Given the description of an element on the screen output the (x, y) to click on. 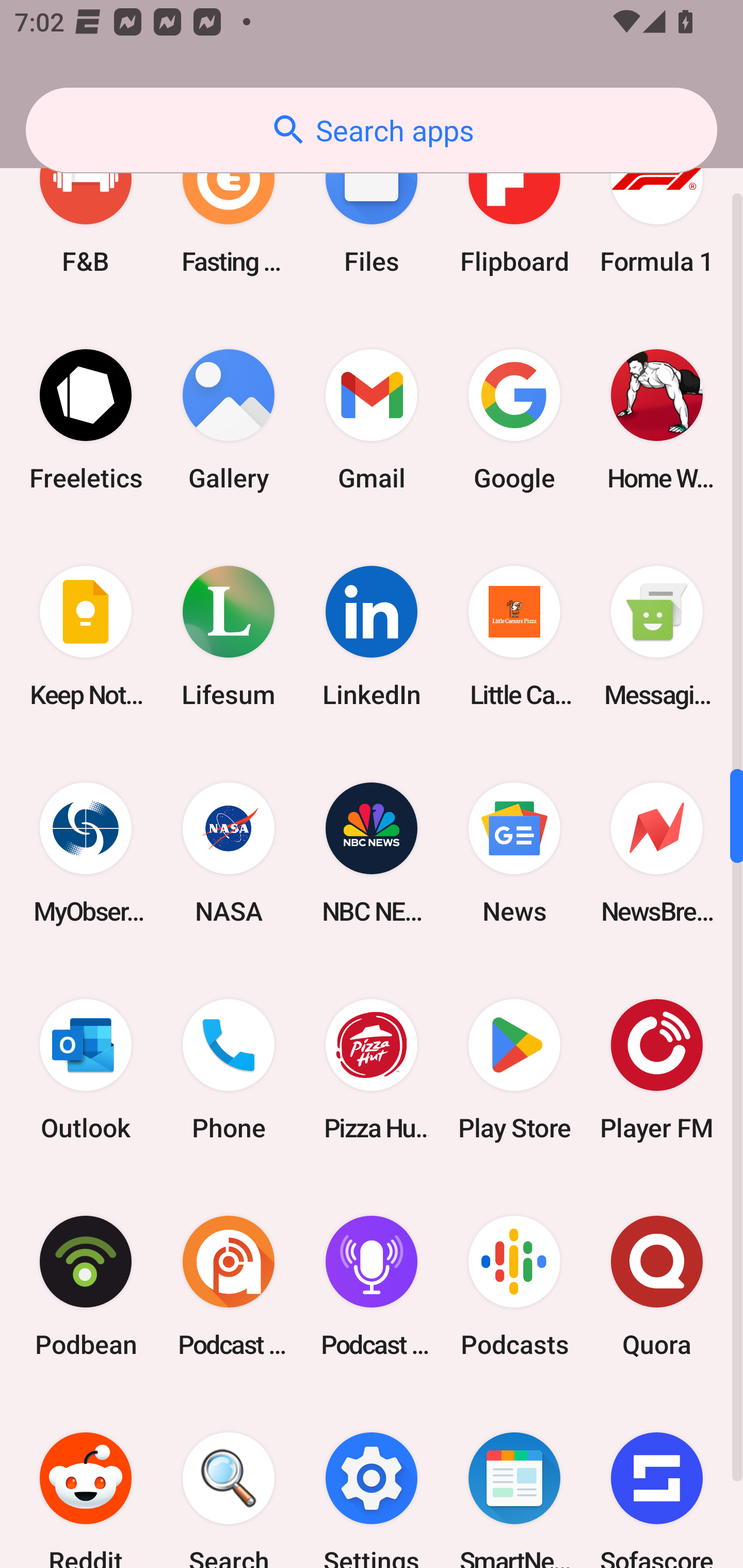
  Search apps (371, 130)
F&B (85, 207)
Fasting Coach (228, 207)
Files (371, 207)
Flipboard (514, 207)
Formula 1 (656, 207)
Freeletics (85, 420)
Gallery (228, 420)
Gmail (371, 420)
Google (514, 420)
Home Workout (656, 420)
Keep Notes (85, 636)
Lifesum (228, 636)
LinkedIn (371, 636)
Little Caesars Pizza (514, 636)
Messaging (656, 636)
MyObservatory (85, 852)
NASA (228, 852)
NBC NEWS (371, 852)
News (514, 852)
NewsBreak (656, 852)
Outlook (85, 1069)
Phone (228, 1069)
Pizza Hut HK & Macau (371, 1069)
Play Store (514, 1069)
Player FM (656, 1069)
Podbean (85, 1285)
Podcast Addict (228, 1285)
Podcast Player (371, 1285)
Podcasts (514, 1285)
Quora (656, 1285)
Reddit (85, 1480)
Search (228, 1480)
Settings (371, 1480)
SmartNews (514, 1480)
Sofascore (656, 1480)
